Given the description of an element on the screen output the (x, y) to click on. 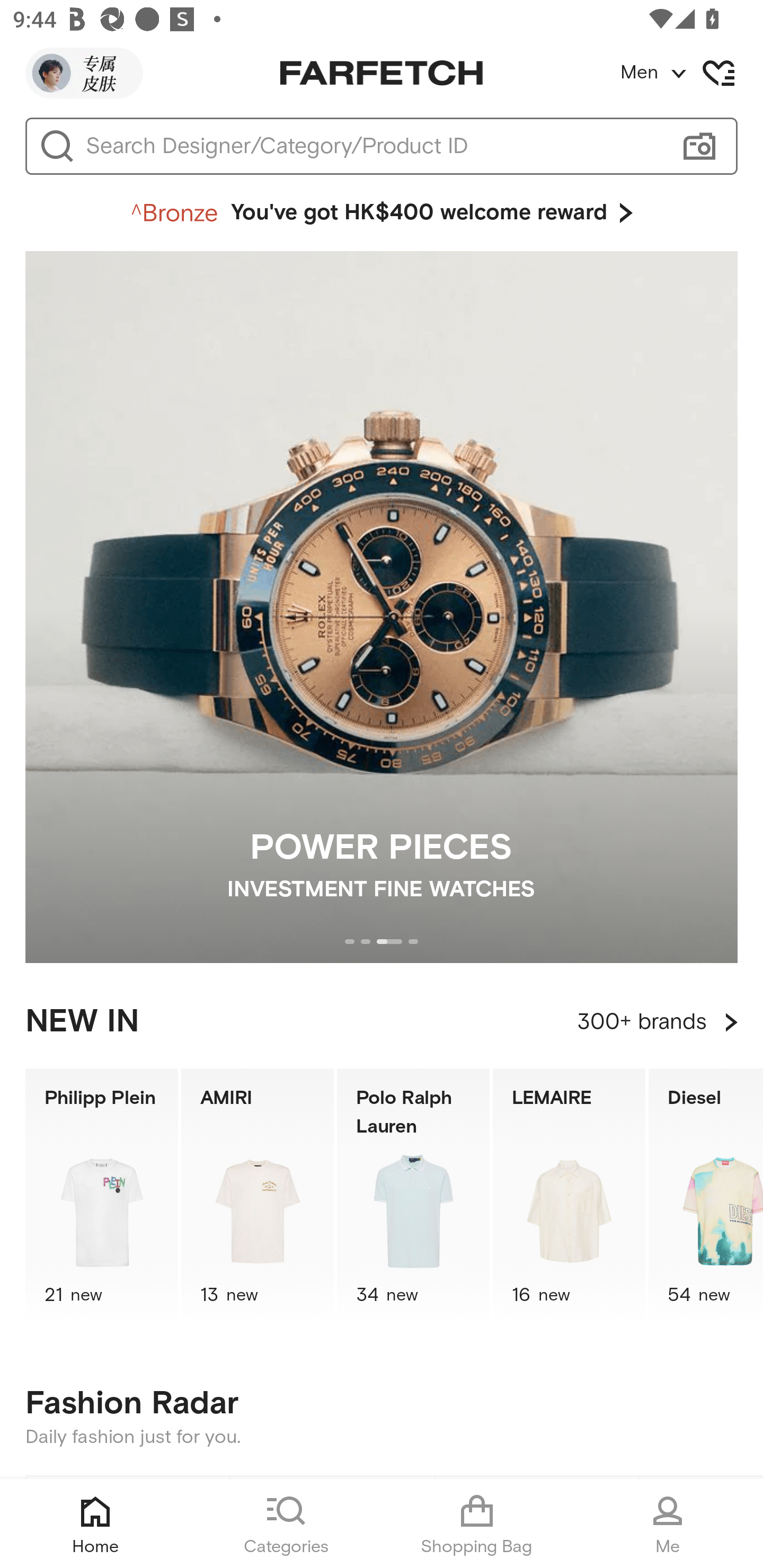
Men (691, 72)
Search Designer/Category/Product ID (373, 146)
You've got HK$400 welcome reward (381, 213)
NEW IN 300+ brands (381, 1021)
Philipp Plein 21  new (101, 1196)
AMIRI 13  new (257, 1196)
Polo Ralph Lauren 34  new (413, 1196)
LEMAIRE 16  new (568, 1196)
Diesel 54  new (705, 1196)
Categories (285, 1523)
Shopping Bag (476, 1523)
Me (667, 1523)
